Given the description of an element on the screen output the (x, y) to click on. 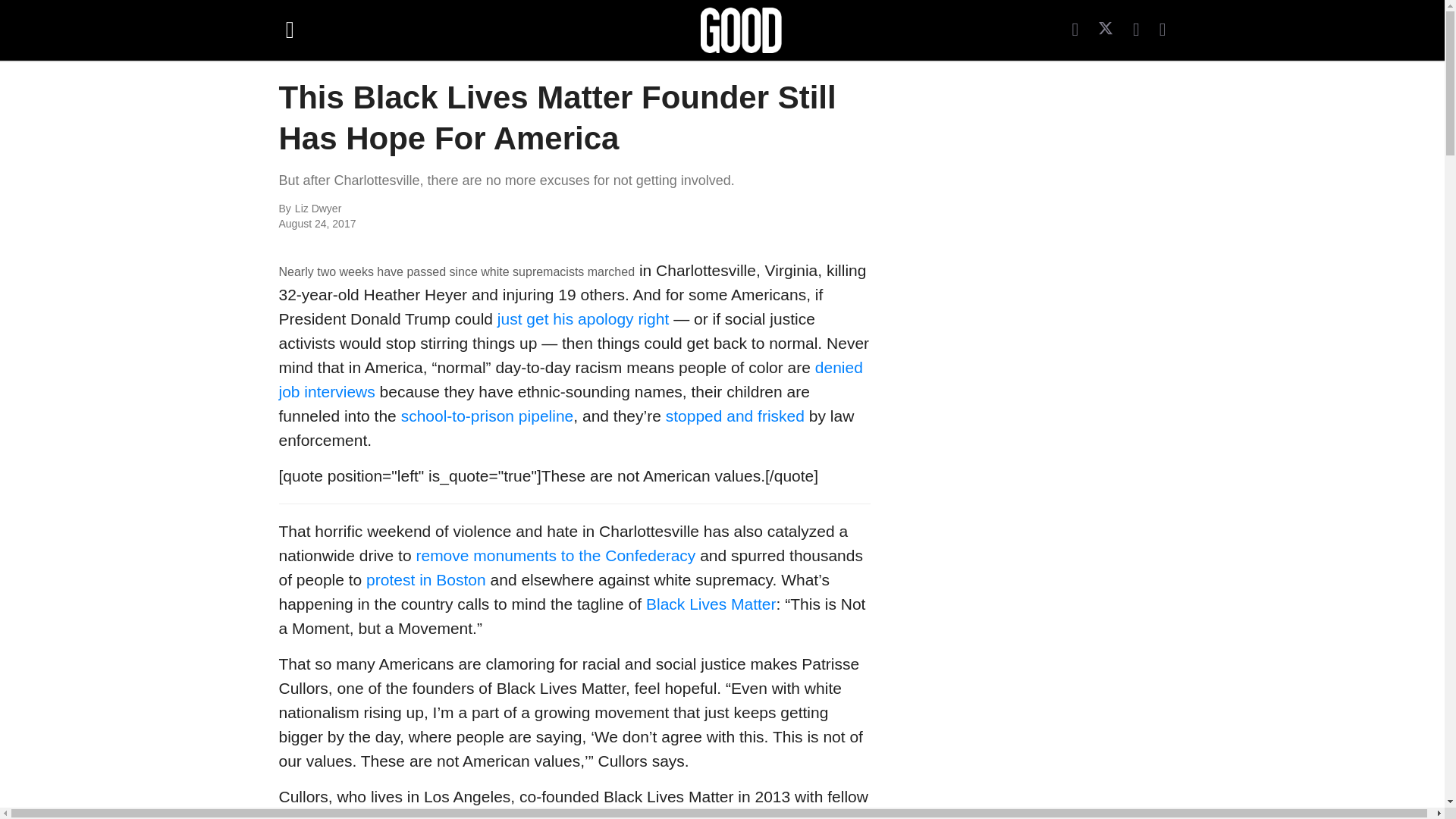
denied job interviews (571, 379)
school-to-prison pipeline (487, 416)
protest in Boston (426, 579)
Black Lives Matter (711, 603)
stopped and frisked (735, 416)
remove monuments to the Confederacy (554, 555)
just get his apology right (582, 318)
Liz Dwyer (459, 209)
